Given the description of an element on the screen output the (x, y) to click on. 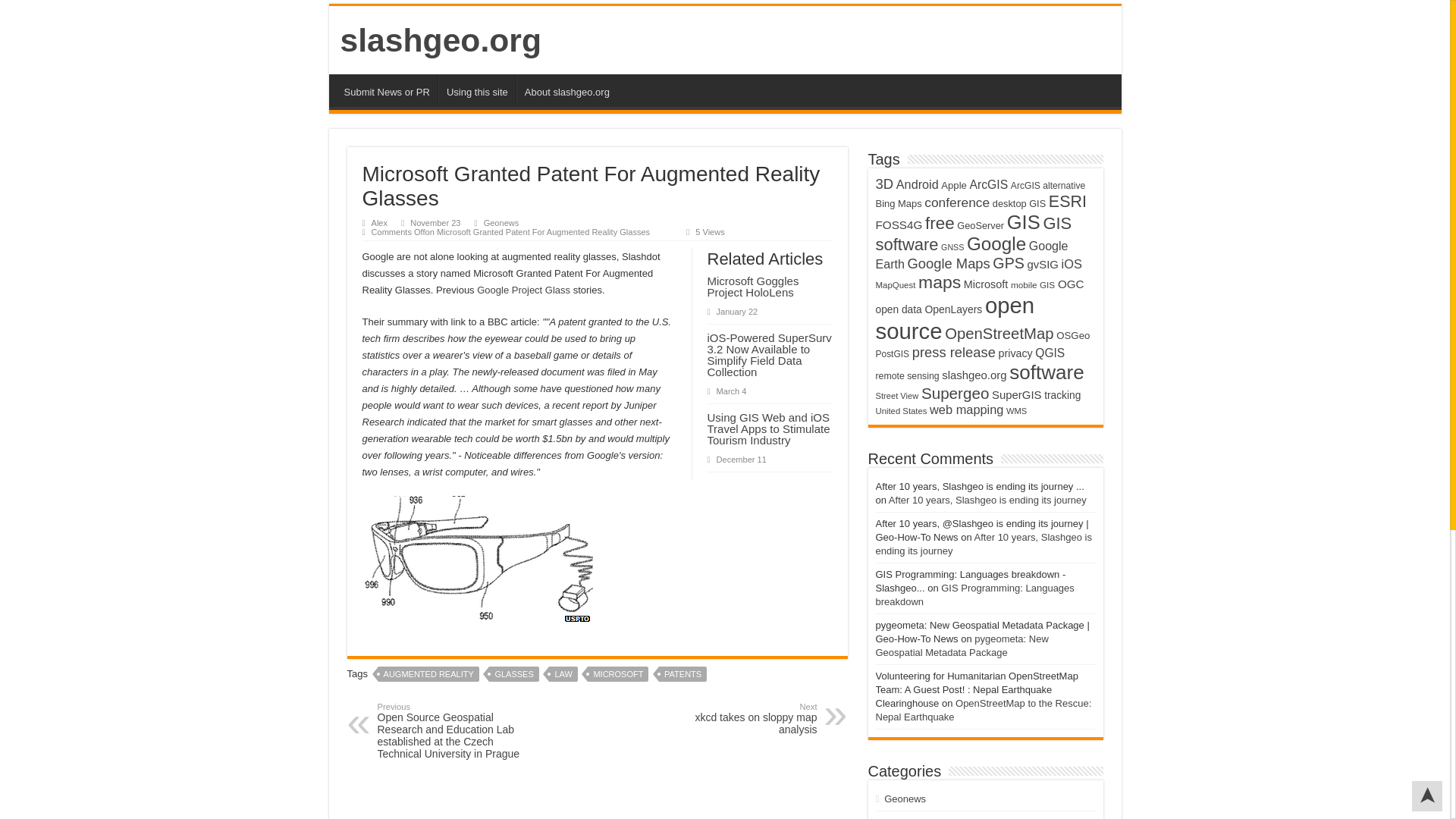
About slashgeo.org (566, 90)
gvSIG (1042, 264)
Google Project Glass (523, 289)
228 topics (996, 243)
165 topics (973, 233)
86 topics (957, 201)
46 topics (898, 203)
178 topics (939, 222)
MICROSOFT (617, 673)
